Given the description of an element on the screen output the (x, y) to click on. 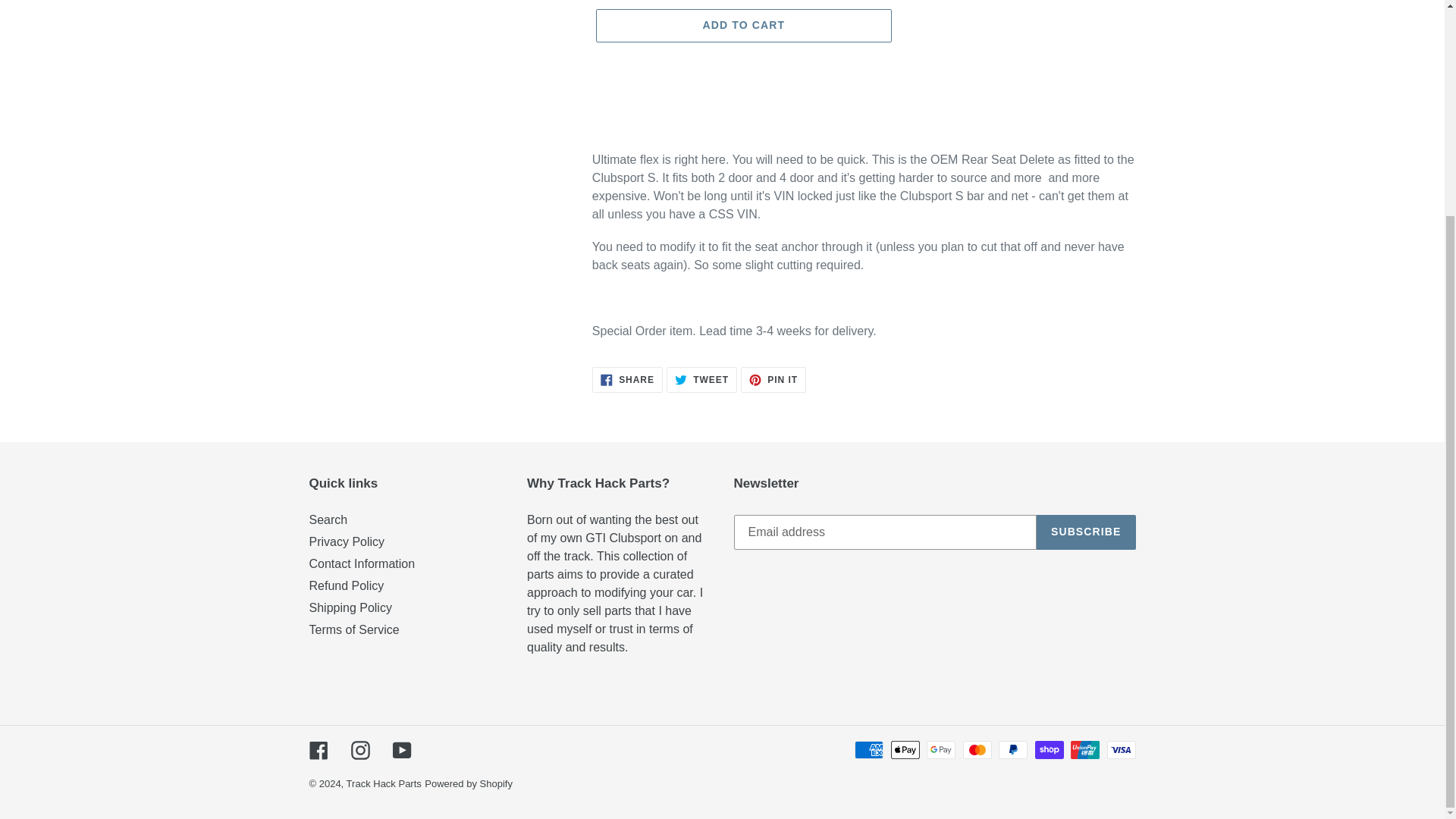
Privacy Policy (773, 379)
Track Hack Parts (701, 379)
SUBSCRIBE (346, 541)
Search (384, 783)
YouTube (1085, 532)
Refund Policy (327, 519)
Contact Information (402, 750)
Powered by Shopify (346, 585)
Instagram (361, 563)
Facebook (468, 783)
Terms of Service (359, 750)
ADD TO CART (318, 750)
Shipping Policy (353, 629)
